Given the description of an element on the screen output the (x, y) to click on. 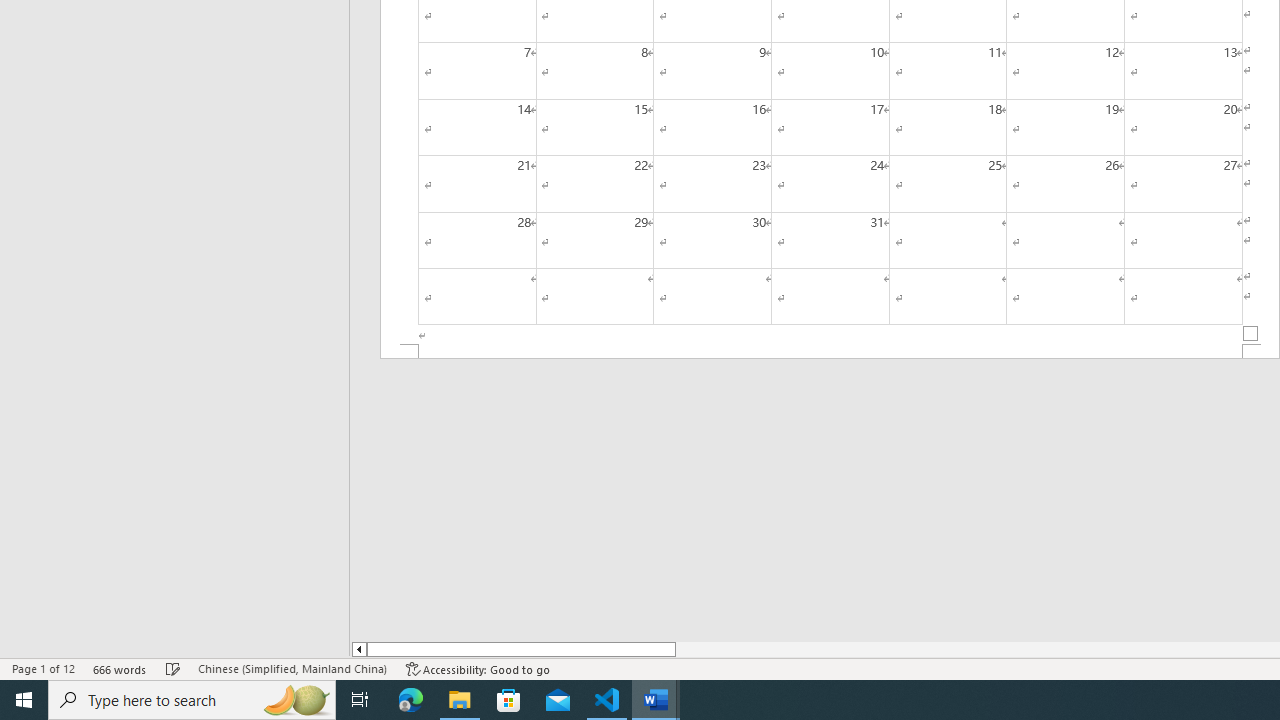
Accessibility Checker Accessibility: Good to go (478, 668)
Language Chinese (Simplified, Mainland China) (292, 668)
Column left (358, 649)
Spelling and Grammar Check Checking (173, 668)
Word Count 666 words (119, 668)
Page Number Page 1 of 12 (43, 668)
Footer -Section 1- (830, 351)
